Given the description of an element on the screen output the (x, y) to click on. 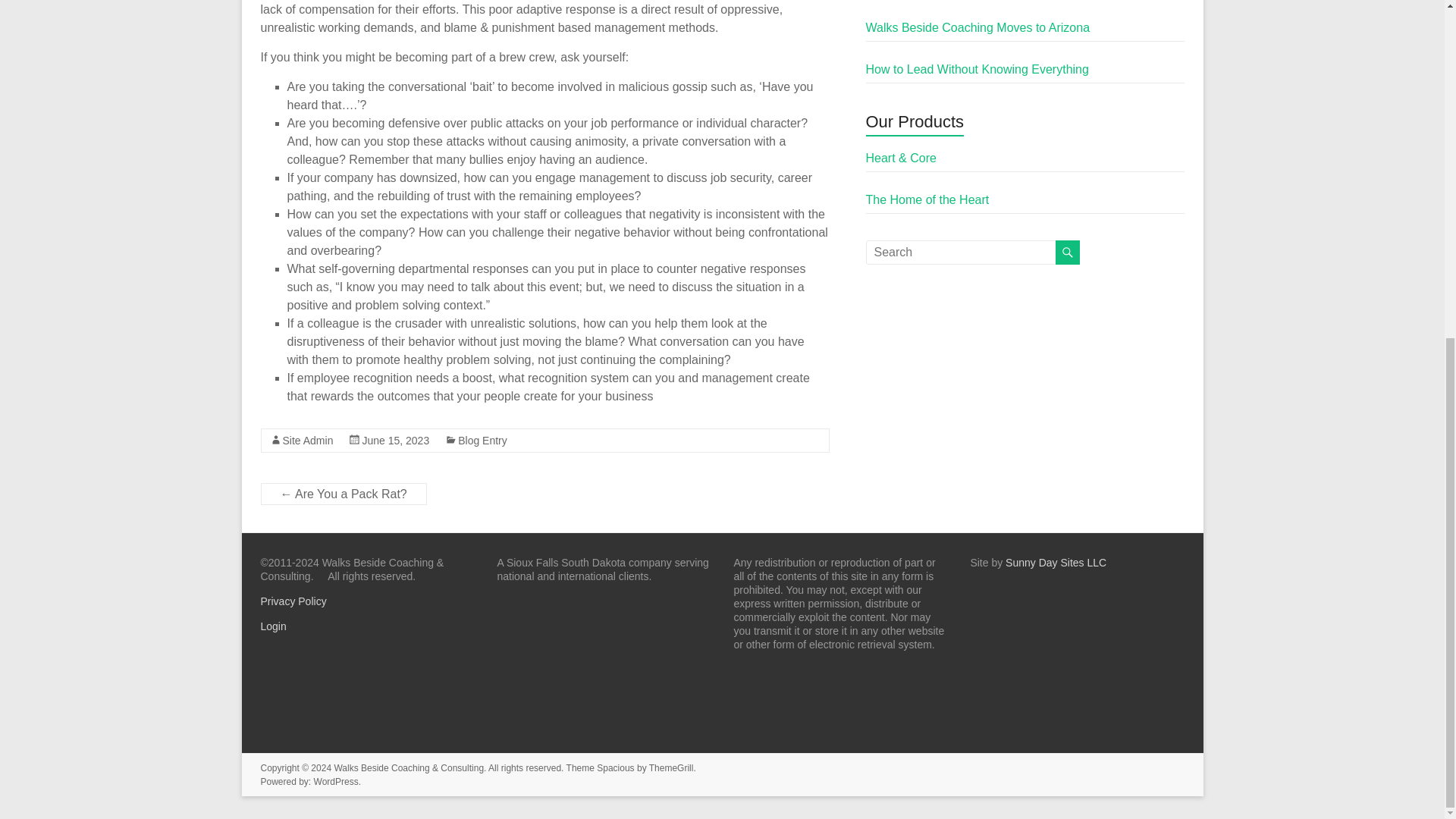
Spacious (614, 767)
The Home of the Heart (928, 199)
Site Admin (307, 440)
WordPress (336, 781)
10:37 am (395, 440)
Blog Entry (482, 440)
June 15, 2023 (395, 440)
Walks Beside Coaching Moves to Arizona (978, 27)
How to Lead Without Knowing Everything (977, 69)
Ashburn website designer (1056, 562)
